Given the description of an element on the screen output the (x, y) to click on. 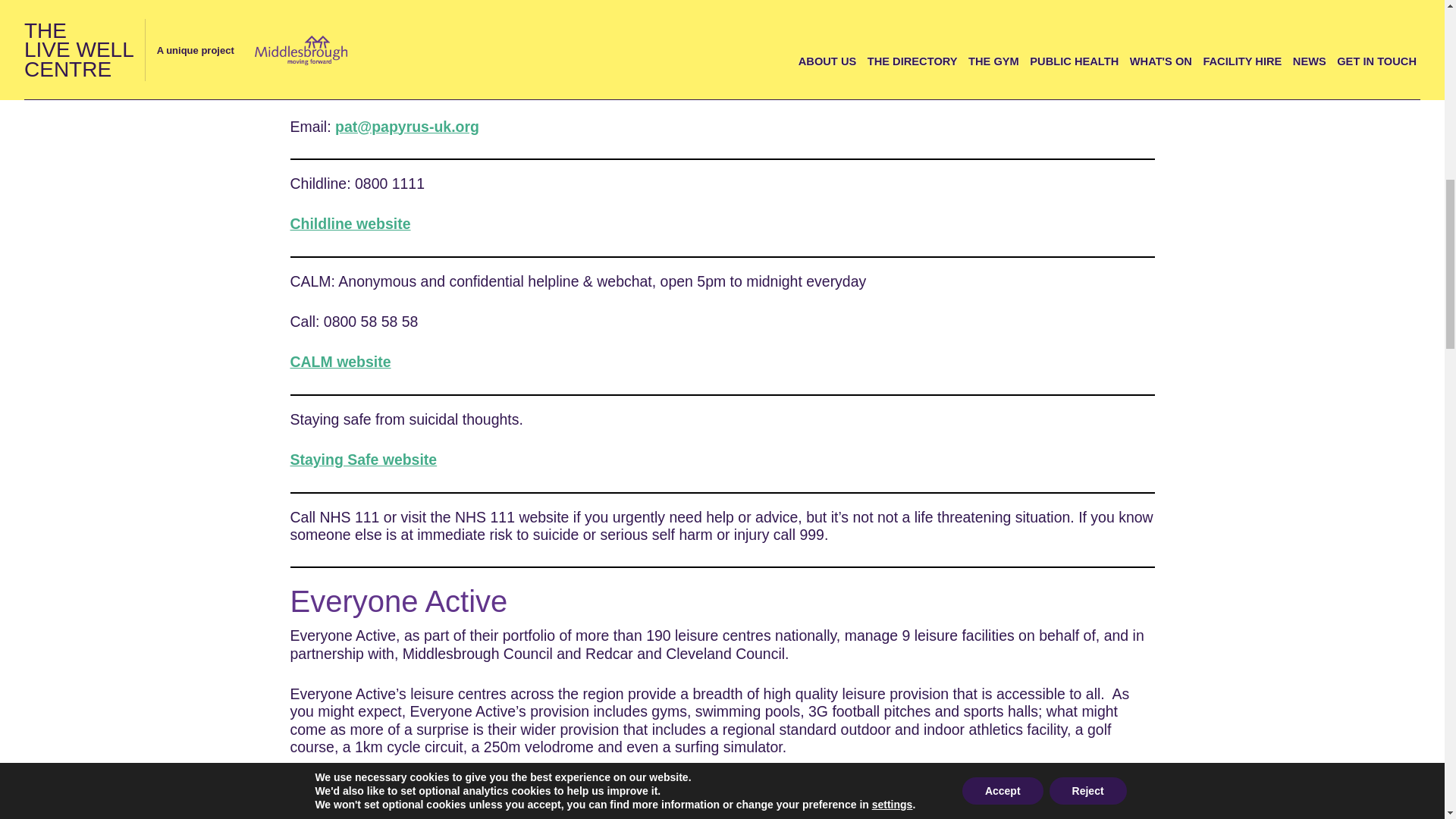
Childline website (349, 223)
Staying Safe website (362, 459)
CALM website (339, 361)
